Given the description of an element on the screen output the (x, y) to click on. 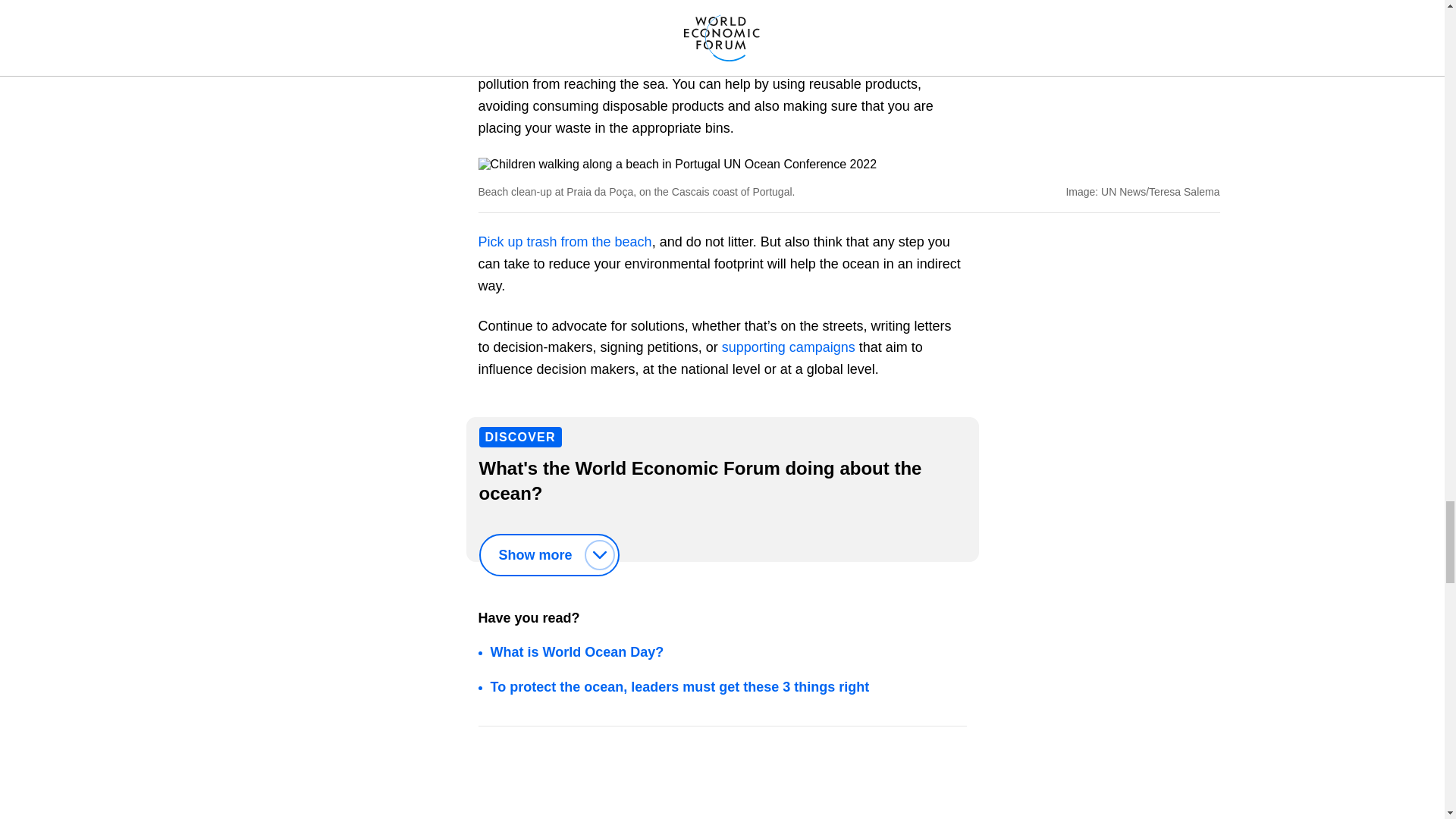
Pick up trash from the beach (563, 241)
supporting campaigns (789, 346)
seafood consumption (809, 2)
Show more (549, 554)
Prevent plastic pollution (882, 40)
